Given the description of an element on the screen output the (x, y) to click on. 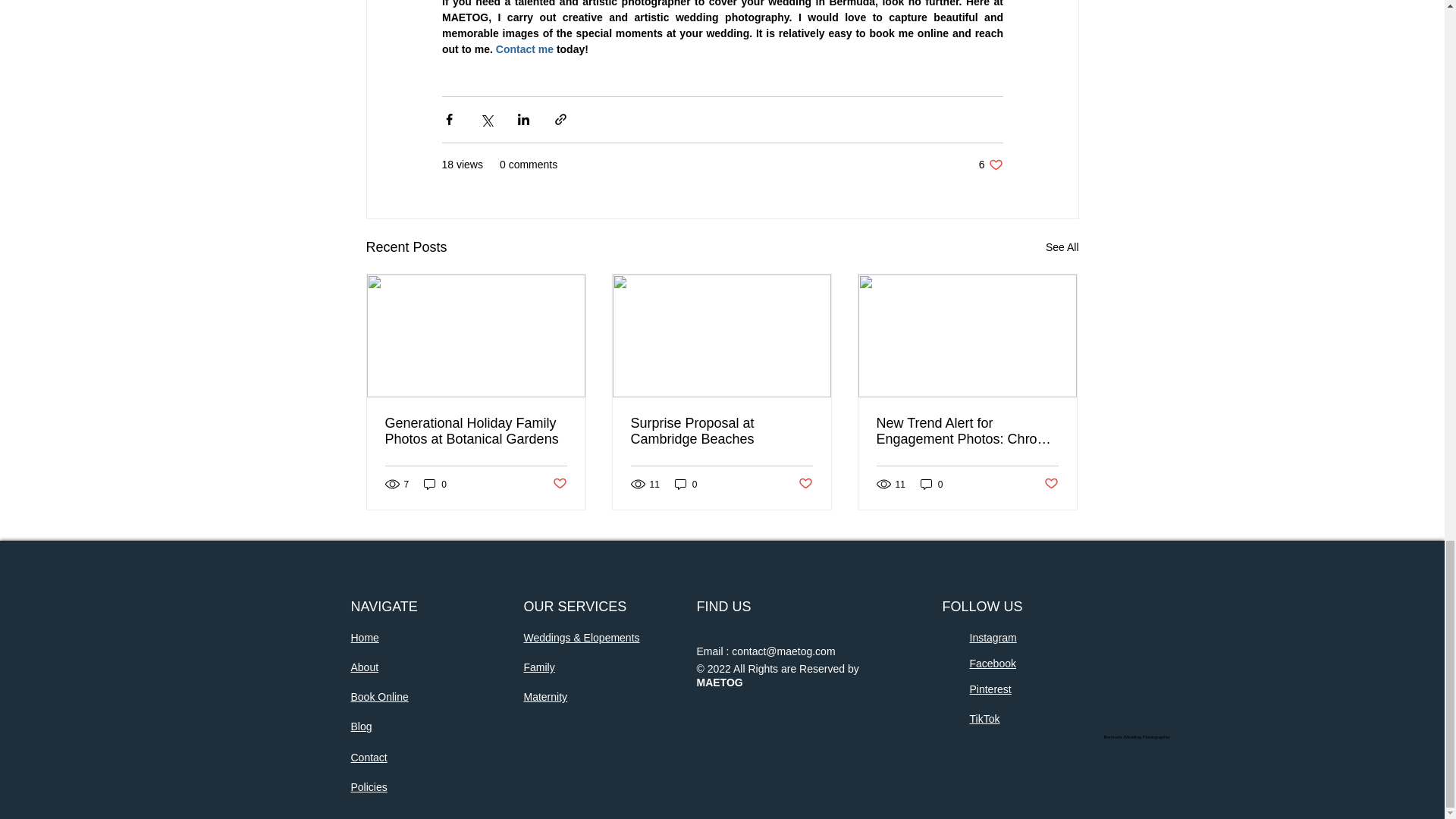
Generational Holiday Family Photos at Botanical Gardens (476, 431)
0 (685, 483)
0 (990, 164)
See All (435, 483)
Surprise Proposal at Cambridge Beaches (1061, 247)
Post not marked as liked (721, 431)
Contact me (558, 483)
